Given the description of an element on the screen output the (x, y) to click on. 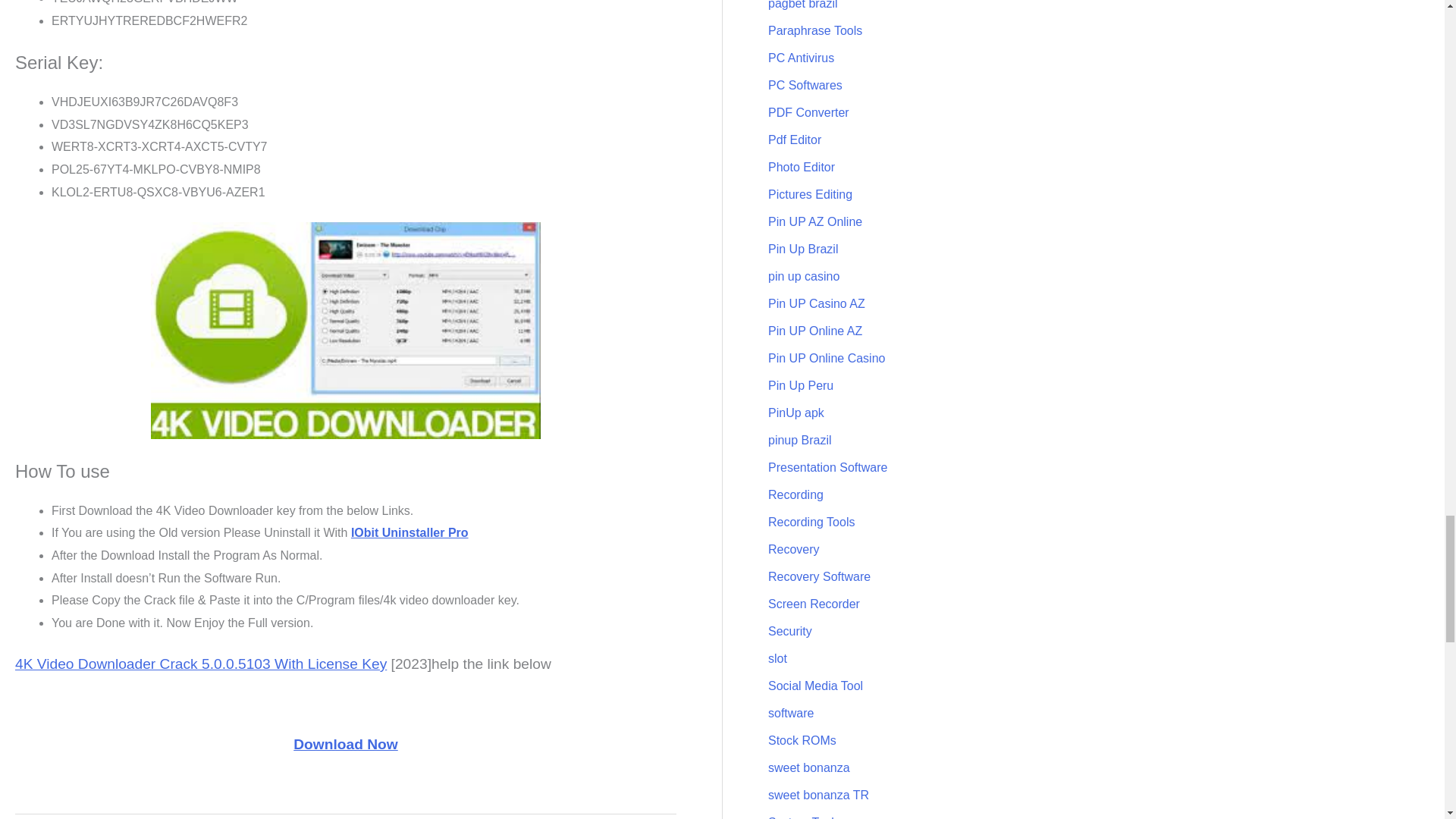
Download Now (345, 744)
IObit Uninstaller Pro (409, 532)
4K Video Downloader Crack 5.0.0.5103 With License Key (200, 663)
